Given the description of an element on the screen output the (x, y) to click on. 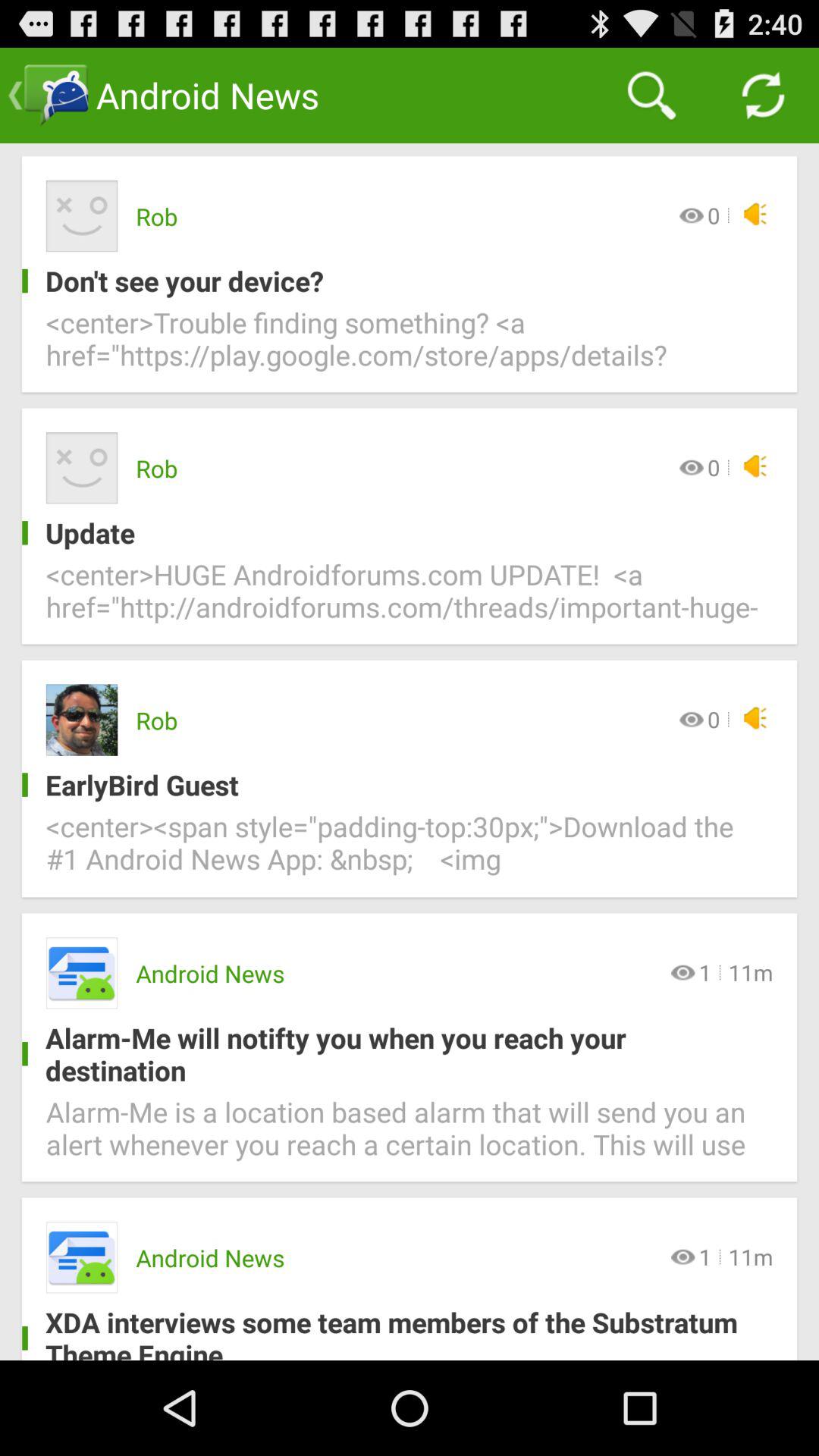
tap icon above the 0 (651, 95)
